Given the description of an element on the screen output the (x, y) to click on. 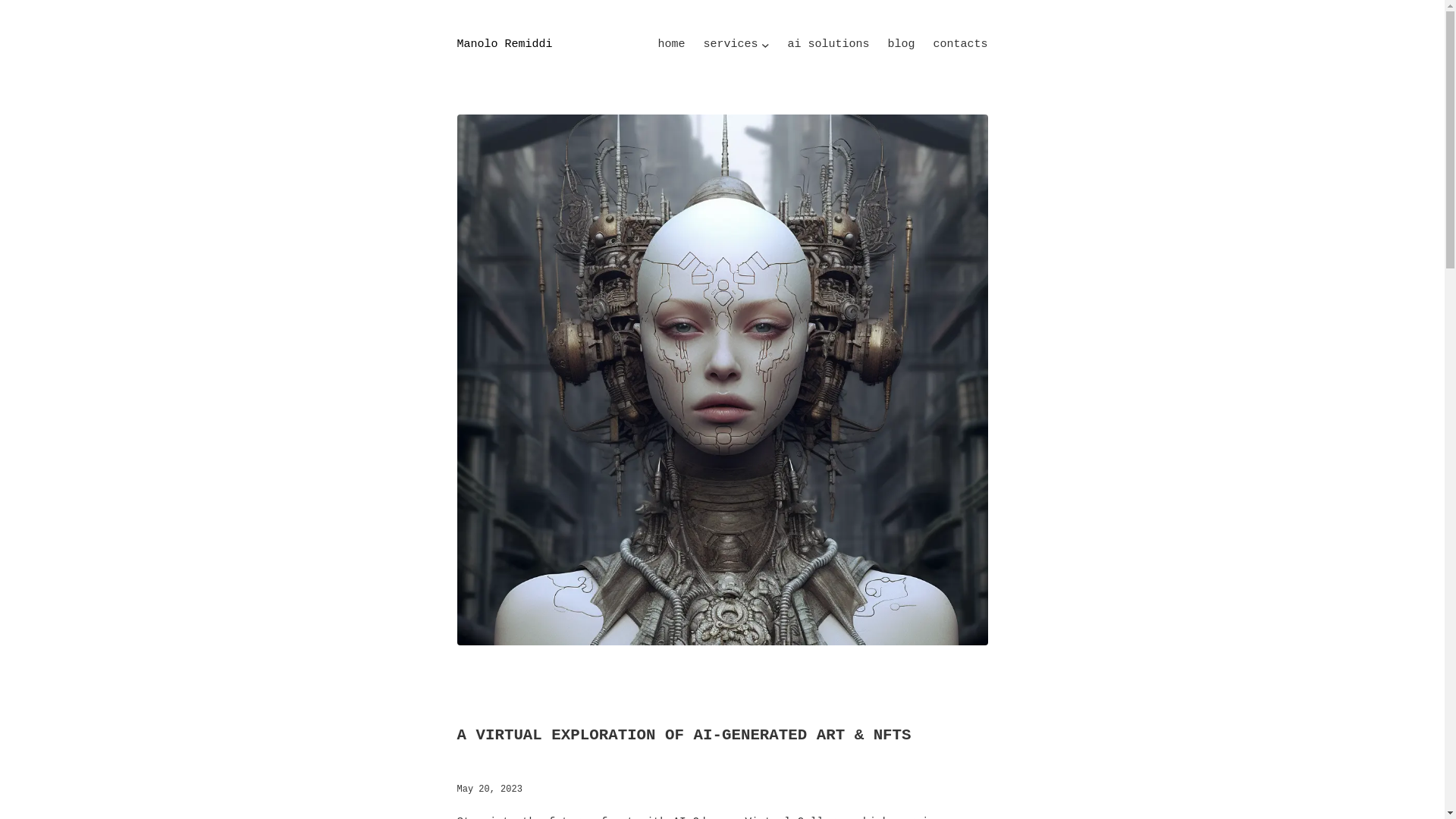
home (671, 45)
services (730, 45)
ai solutions (828, 45)
blog (900, 45)
Manolo Remiddi (504, 43)
contacts (960, 45)
